Given the description of an element on the screen output the (x, y) to click on. 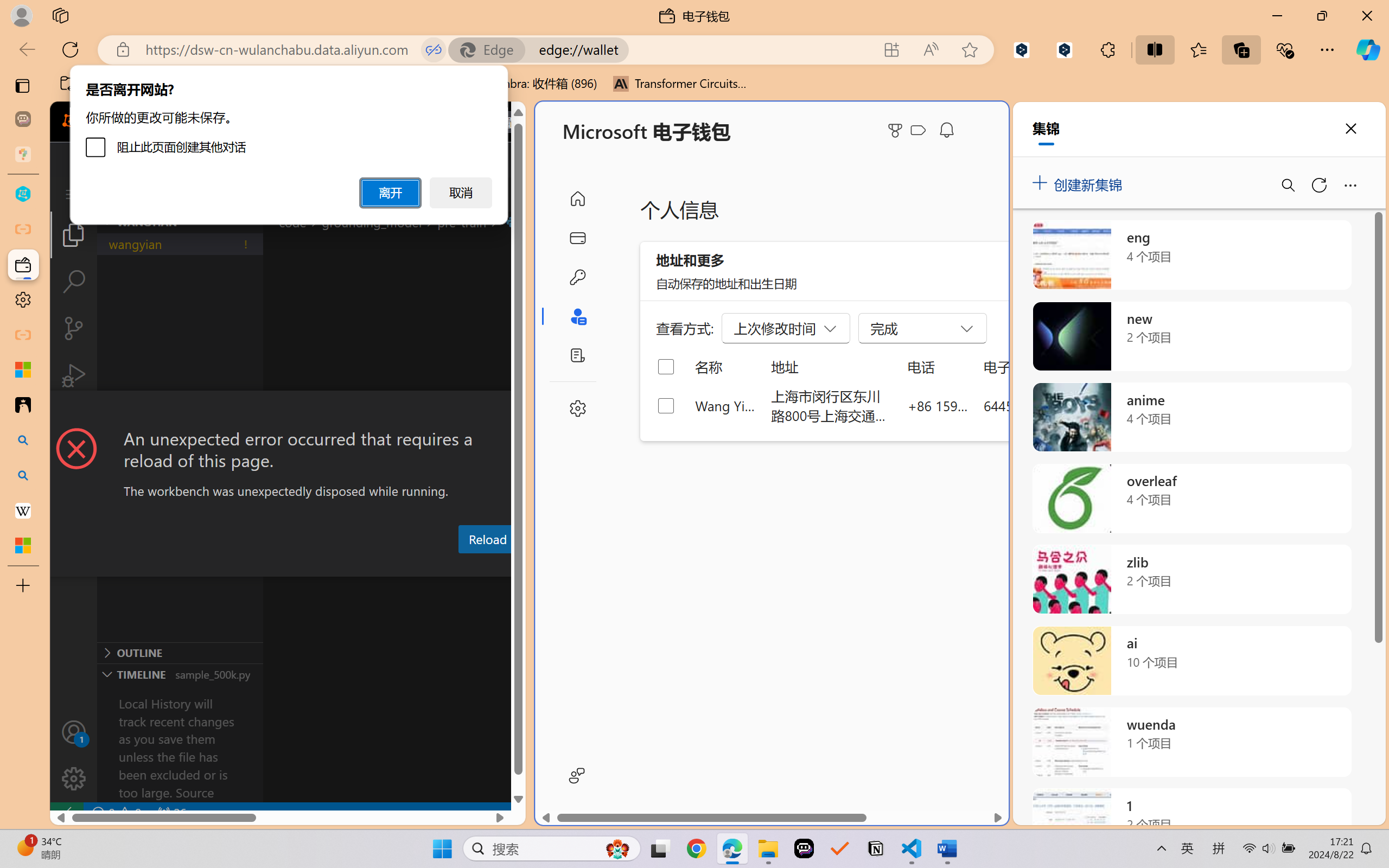
Copilot (Ctrl+Shift+.) (1368, 49)
remote (66, 812)
Reload (486, 538)
Wang Yian (725, 405)
